Given the description of an element on the screen output the (x, y) to click on. 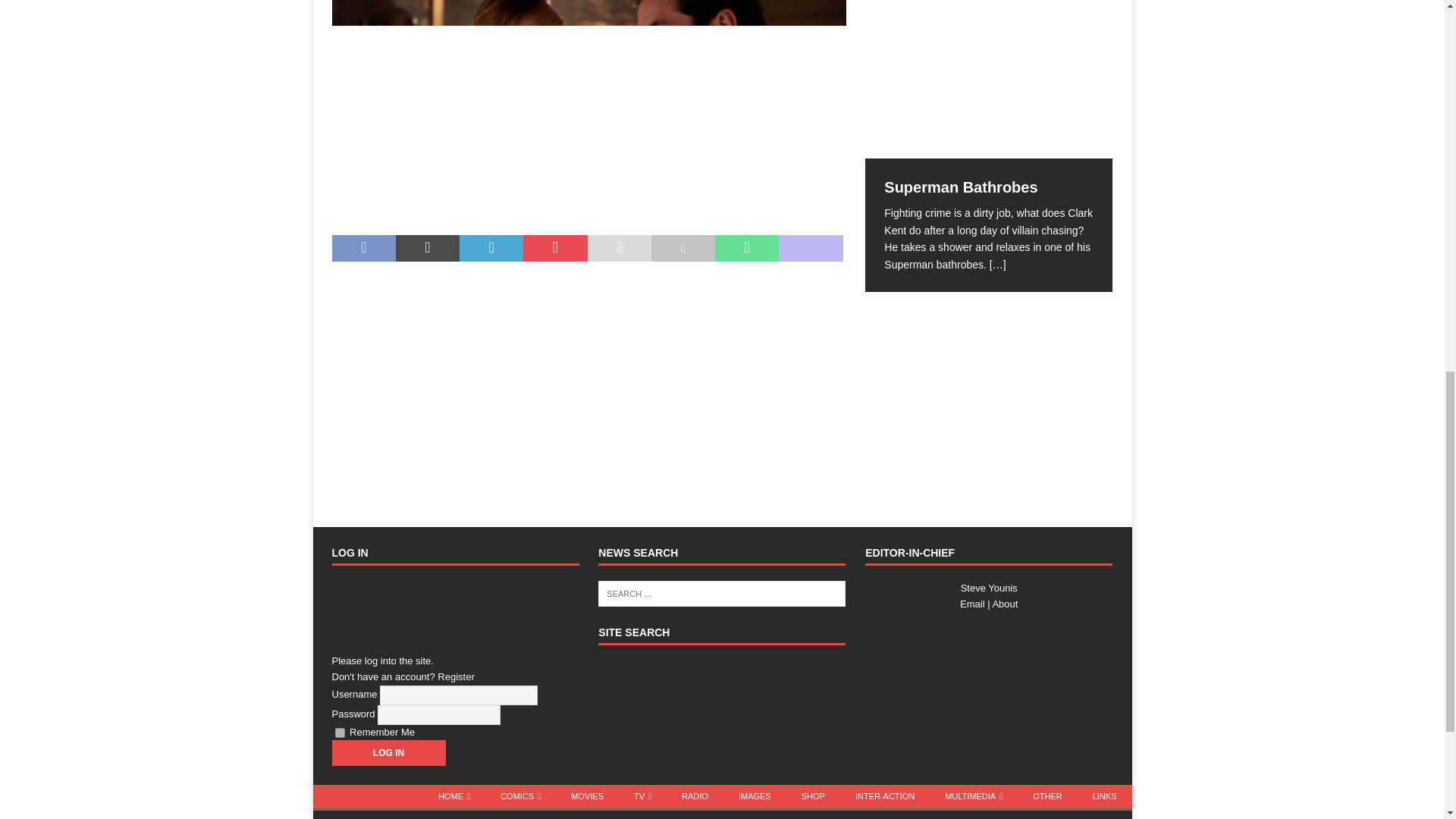
Tweet This Post (428, 248)
Send this article to a friend (619, 248)
Share on Facebook (363, 248)
Share On Mastodon (810, 248)
Log In (388, 752)
Print this article (682, 248)
Pin This Post (554, 248)
forever (339, 732)
Superman Bathrobes (959, 187)
Superman Bathrobes (988, 79)
